Given the description of an element on the screen output the (x, y) to click on. 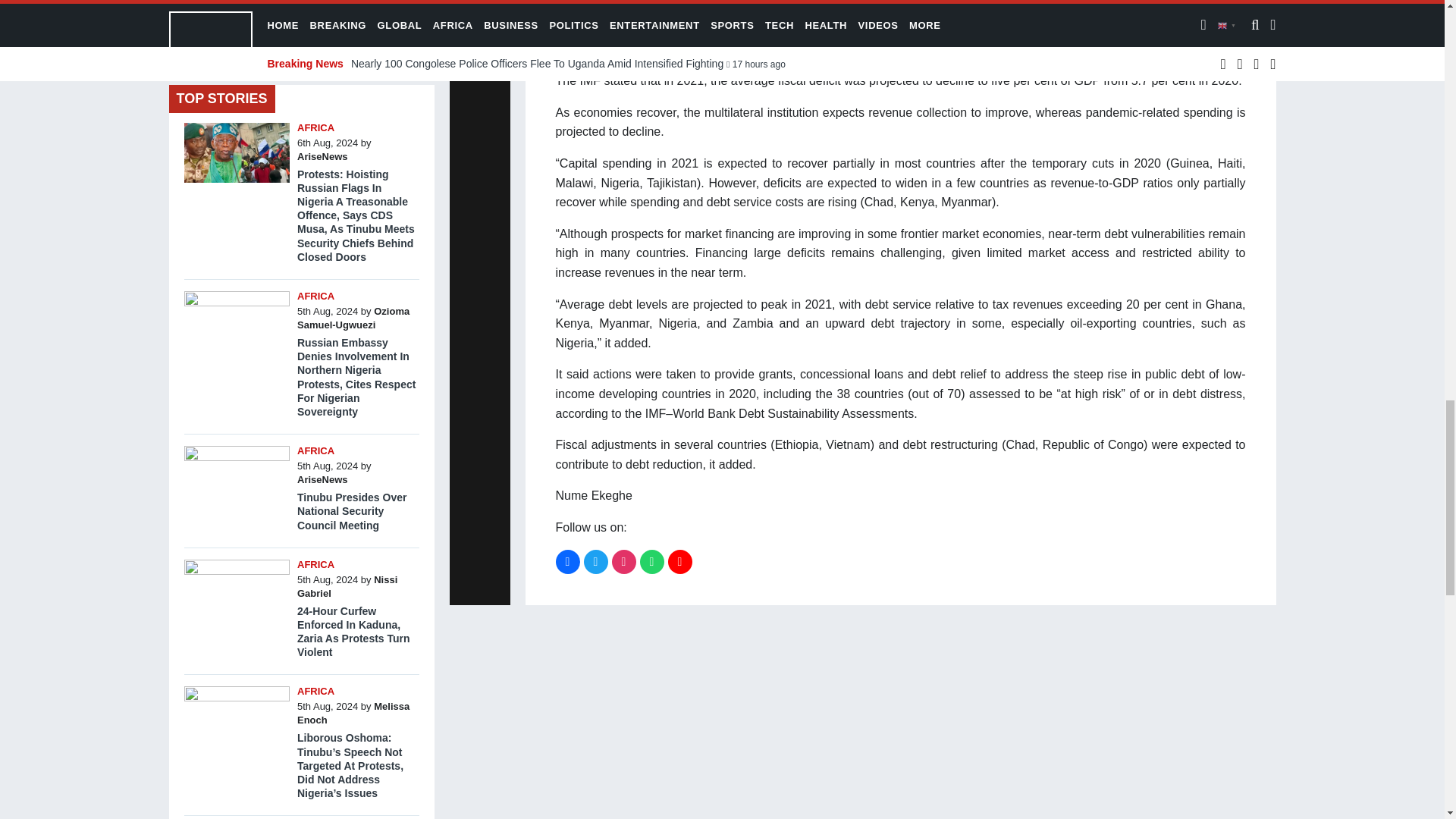
Twitter (595, 561)
Facebook (566, 561)
WhatsApp (651, 561)
Youtube (678, 561)
Instagram (622, 561)
